Given the description of an element on the screen output the (x, y) to click on. 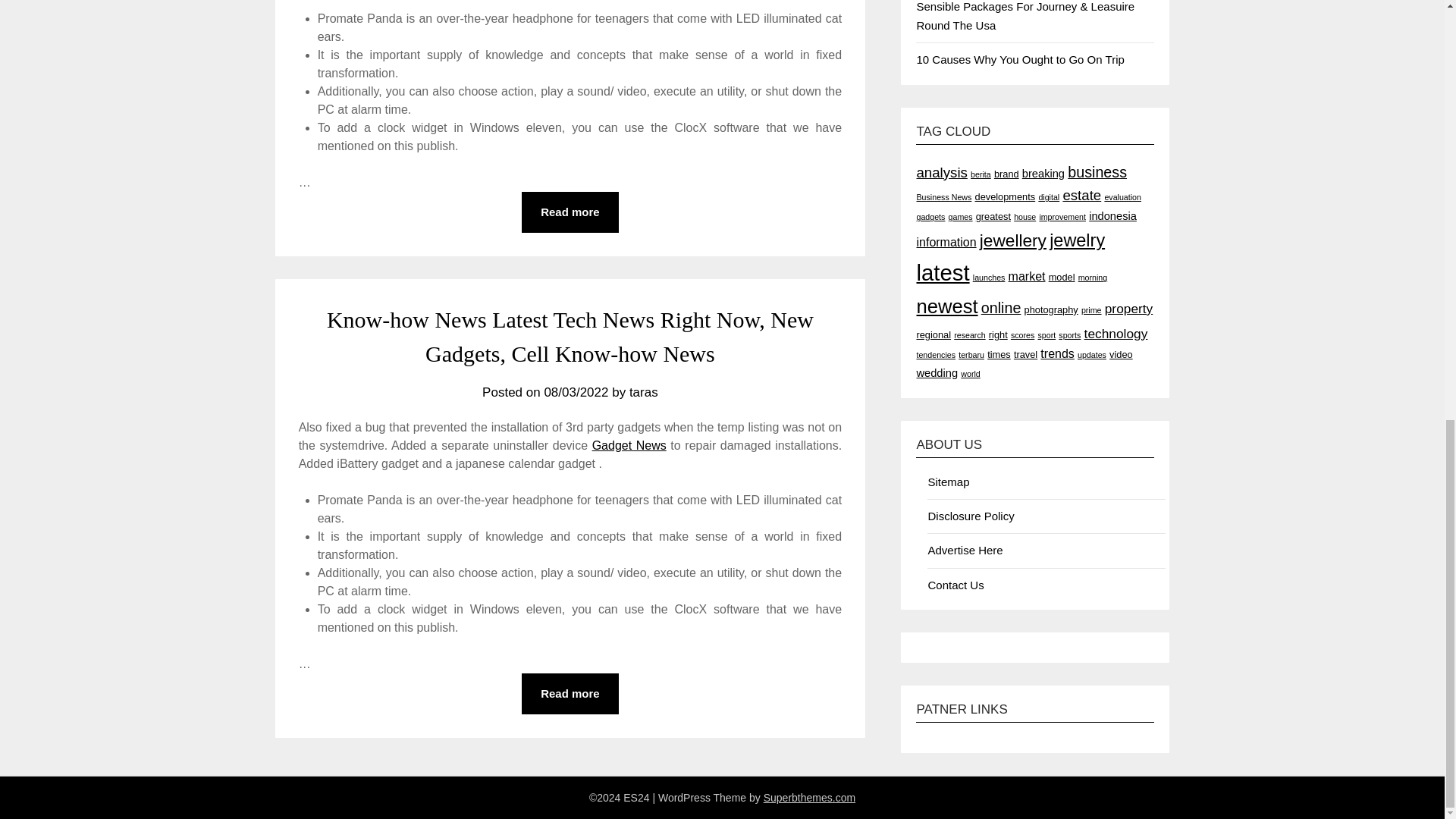
developments (1005, 196)
Business News (943, 196)
improvement (1062, 216)
10 Causes Why You Ought to Go On Trip (1019, 59)
Read more (569, 211)
gadgets (929, 216)
taras (643, 391)
Gadget News (629, 445)
berita (981, 174)
analysis (940, 172)
evaluation (1122, 196)
brand (1006, 173)
business (1096, 171)
Read more (569, 693)
greatest (992, 215)
